Given the description of an element on the screen output the (x, y) to click on. 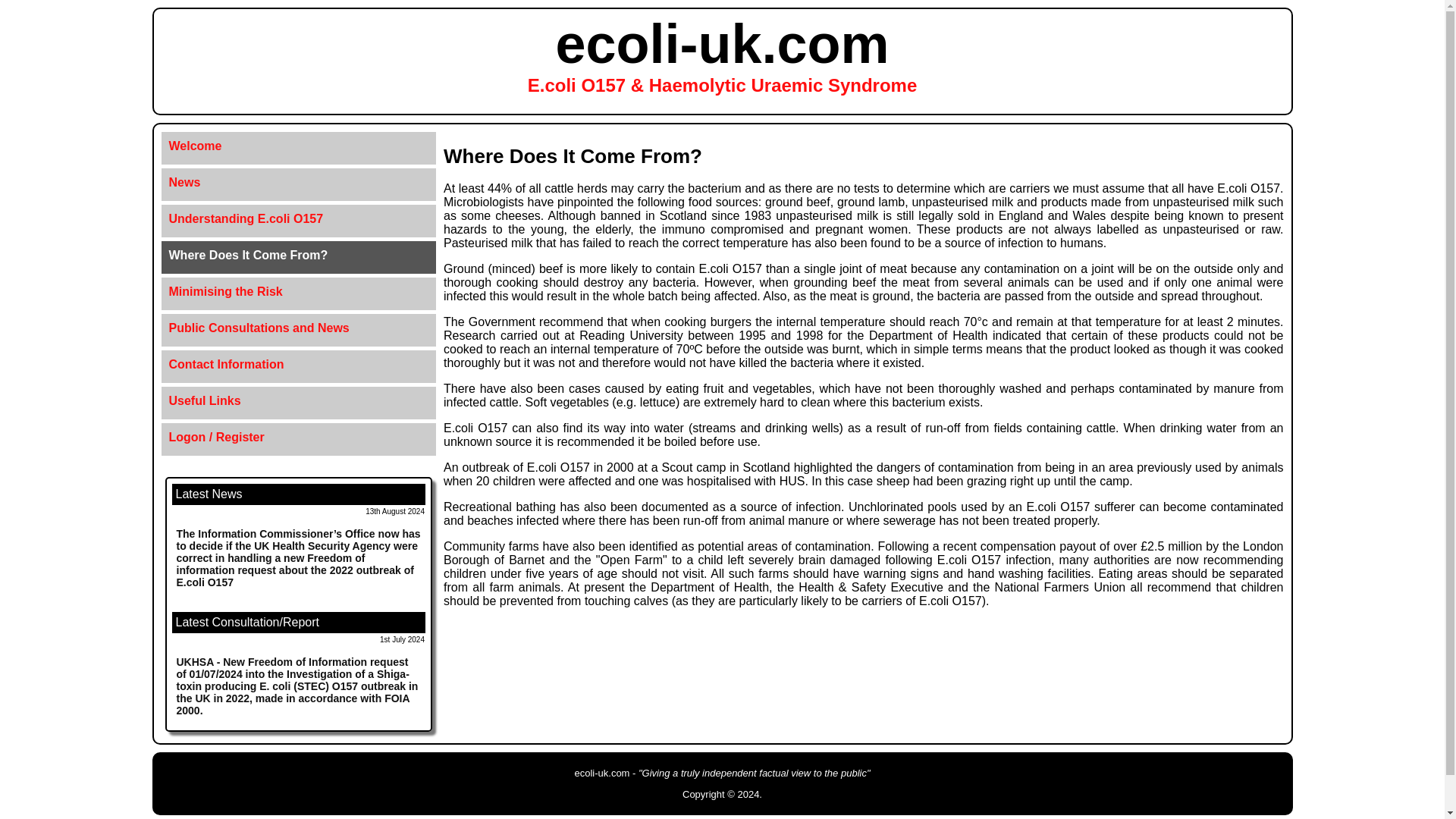
Public Consultations and News (298, 328)
Contact Information (298, 364)
Where Does It Come From? (298, 255)
News (298, 182)
Minimising the Risk (298, 291)
Understanding E.coli O157 (298, 219)
Welcome (298, 146)
Useful Links (298, 400)
